Given the description of an element on the screen output the (x, y) to click on. 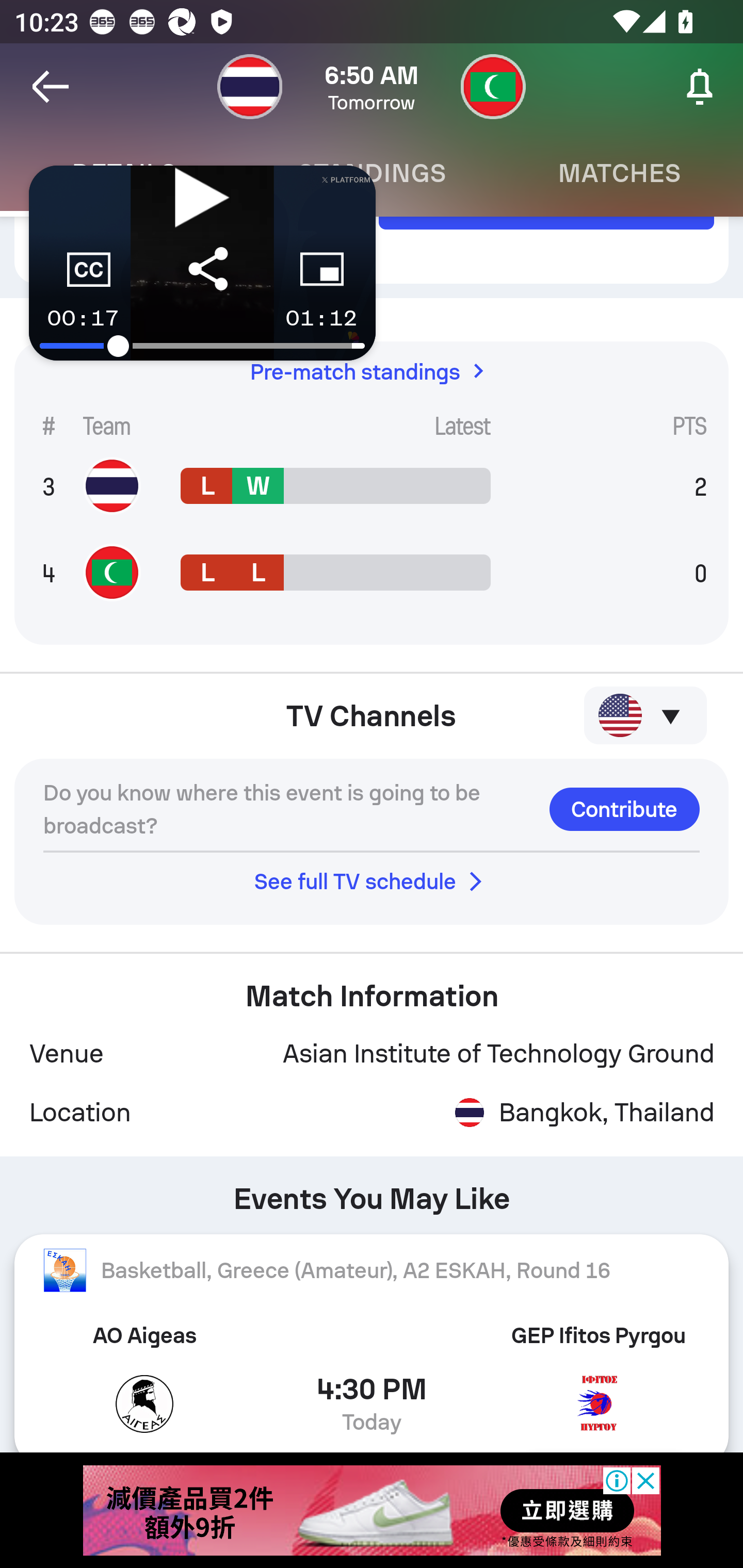
Navigate up (50, 86)
Matches MATCHES (619, 173)
Contribute (624, 808)
See full TV schedule (371, 881)
Events You May Like (371, 1192)
Basketball, Greece (Amateur), A2 ESKAH, Round 16 (371, 1270)
